Given the description of an element on the screen output the (x, y) to click on. 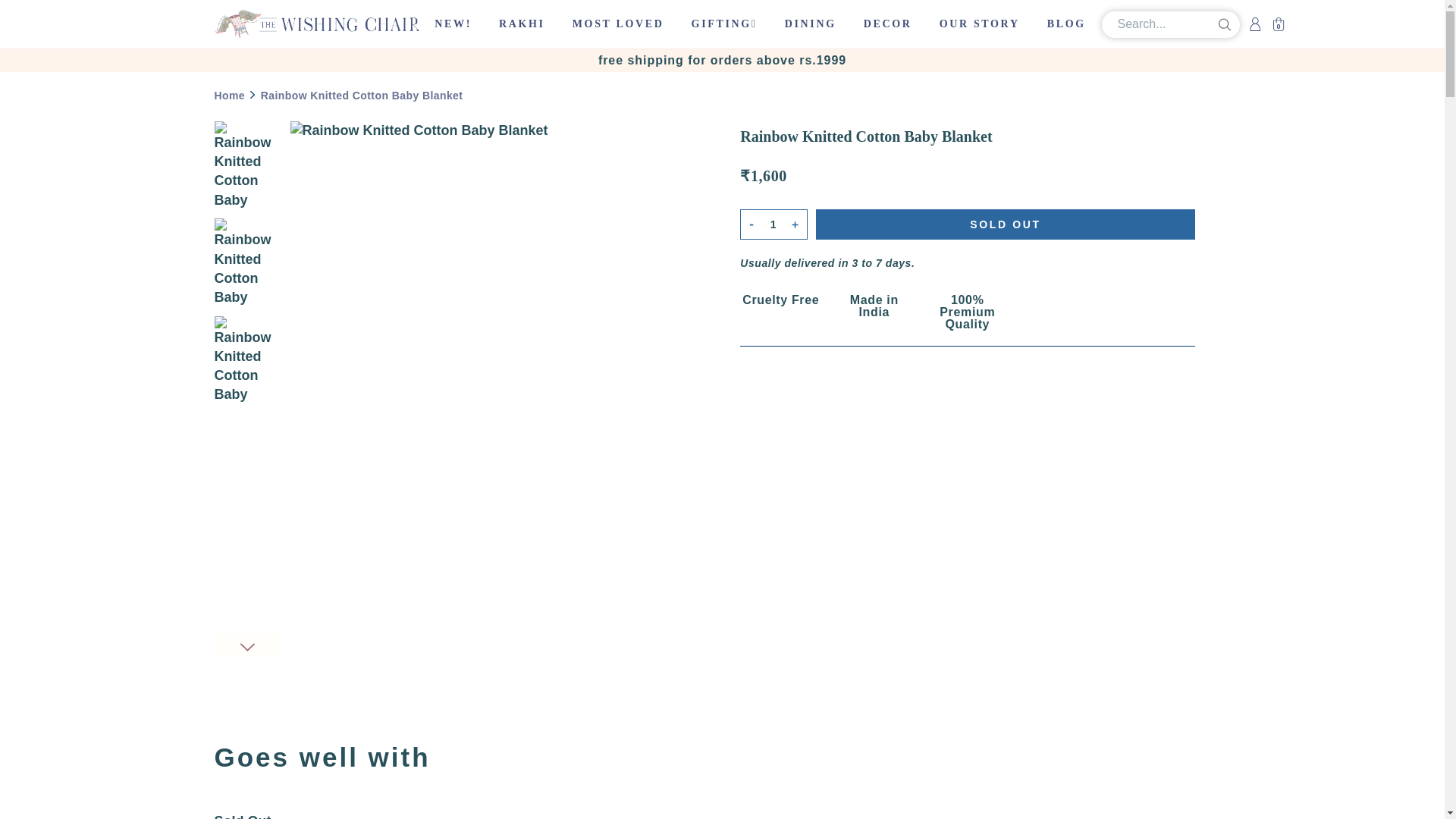
1 (772, 224)
Back to the frontpage (229, 95)
